Given the description of an element on the screen output the (x, y) to click on. 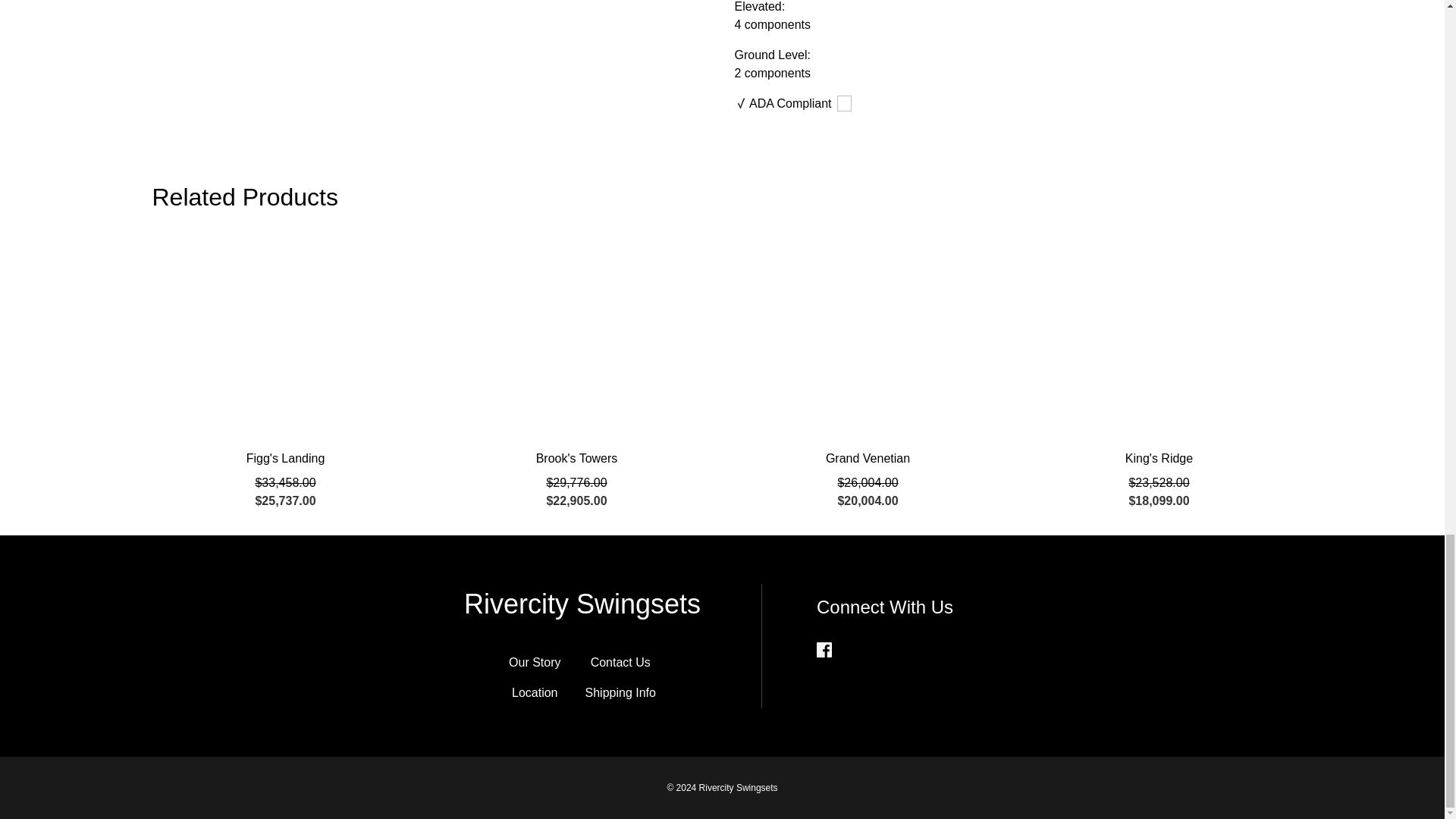
Our Story (534, 662)
Location (534, 692)
Shipping Info (620, 692)
Contact Us (620, 662)
